Given the description of an element on the screen output the (x, y) to click on. 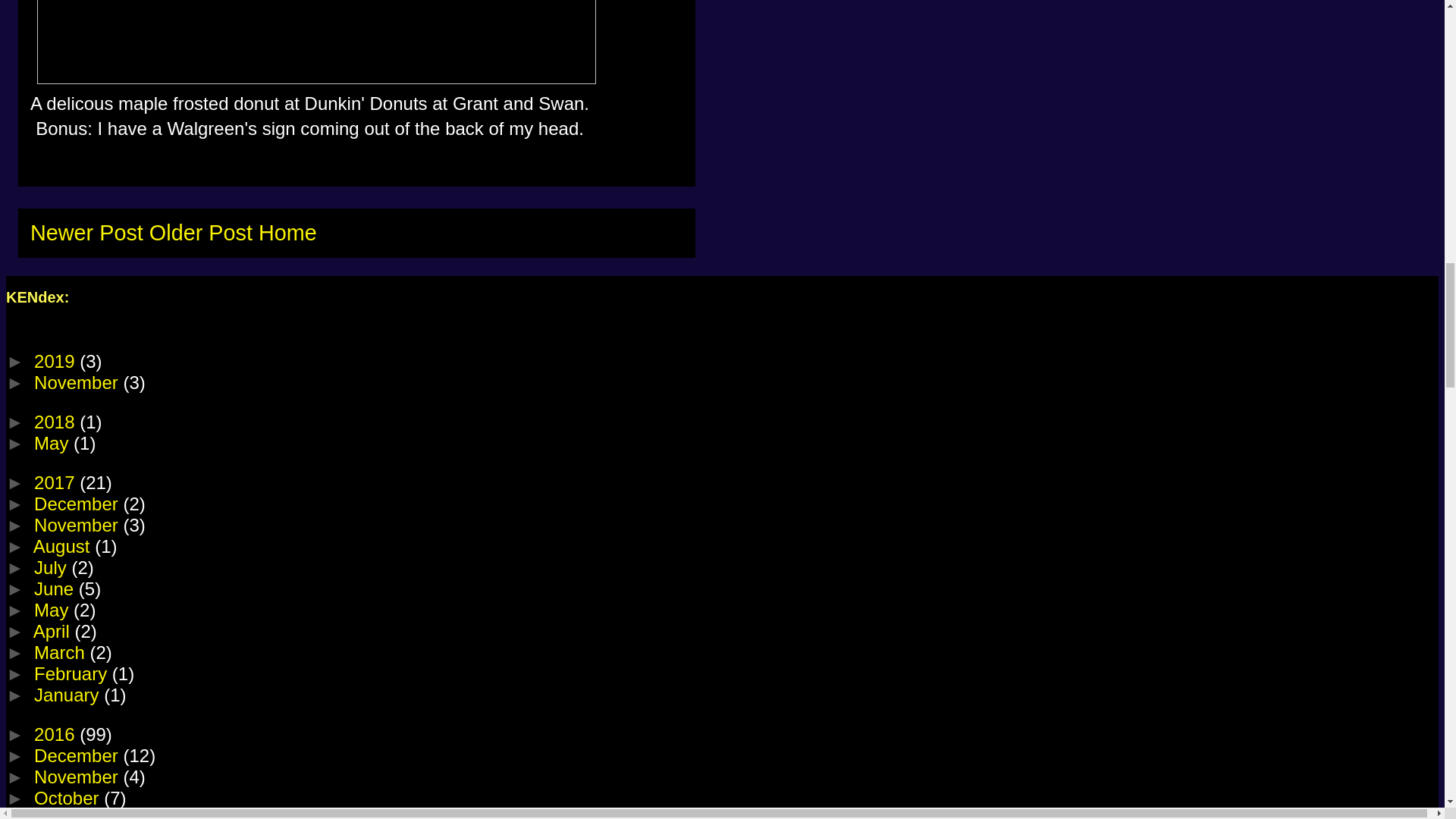
March (60, 652)
November (77, 525)
June (55, 588)
July (52, 567)
May (53, 609)
Home (288, 232)
November (77, 382)
2018 (56, 421)
Newer Post (86, 232)
2019 (56, 361)
Older Post (200, 232)
August (63, 546)
Older Post (200, 232)
Newer Post (86, 232)
April (54, 630)
